Given the description of an element on the screen output the (x, y) to click on. 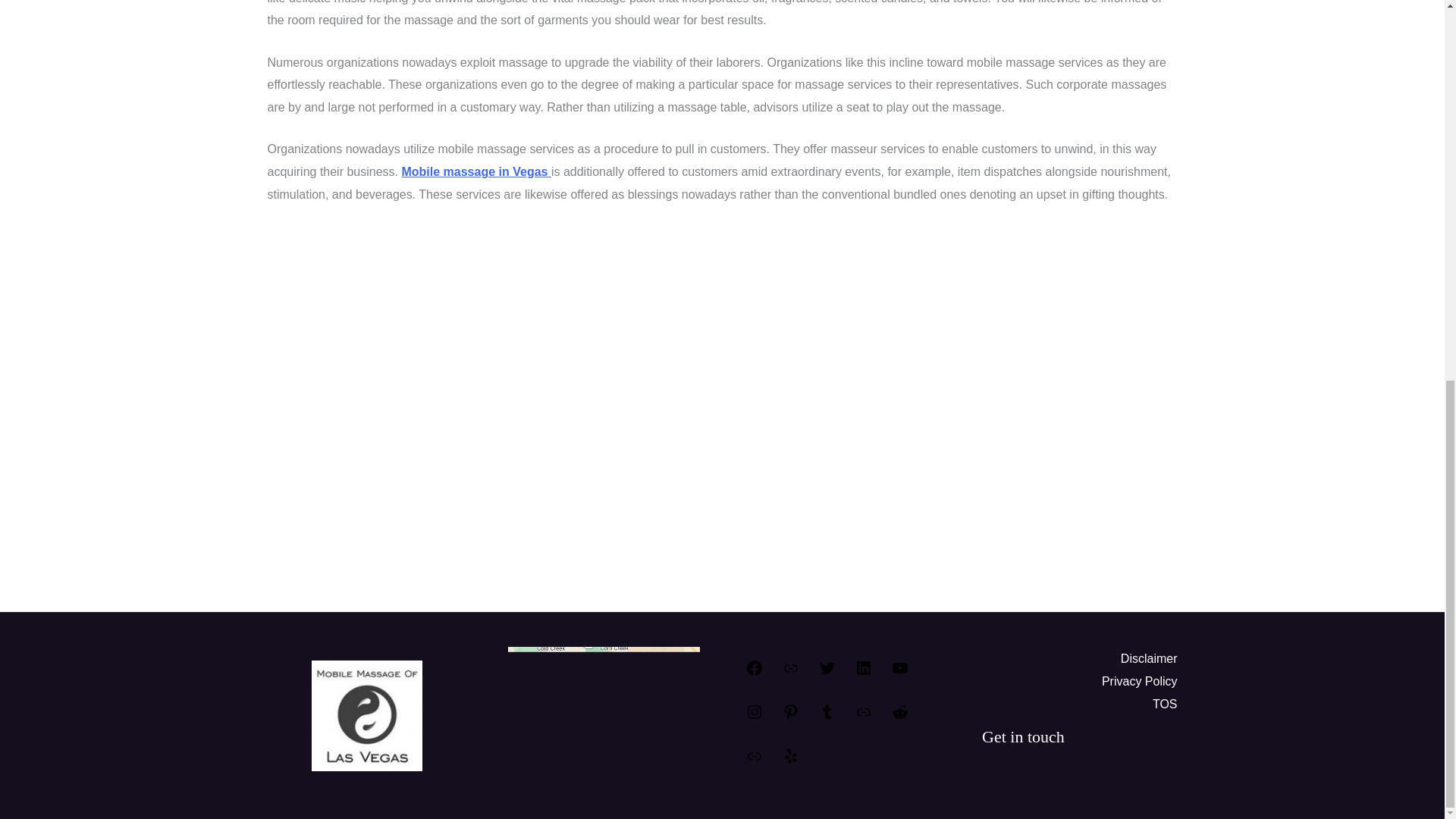
Yelp (789, 760)
Link (862, 716)
Twitter (825, 672)
Link (789, 672)
Facebook (753, 672)
Reddit (898, 716)
Pinterest (789, 716)
YouTube (898, 672)
Privacy Policy (1139, 681)
Mobile massage in Vegas (475, 171)
Tumblr (825, 716)
Instagram (753, 716)
Link (753, 760)
Disclaimer (1149, 658)
LinkedIn (862, 672)
